Given the description of an element on the screen output the (x, y) to click on. 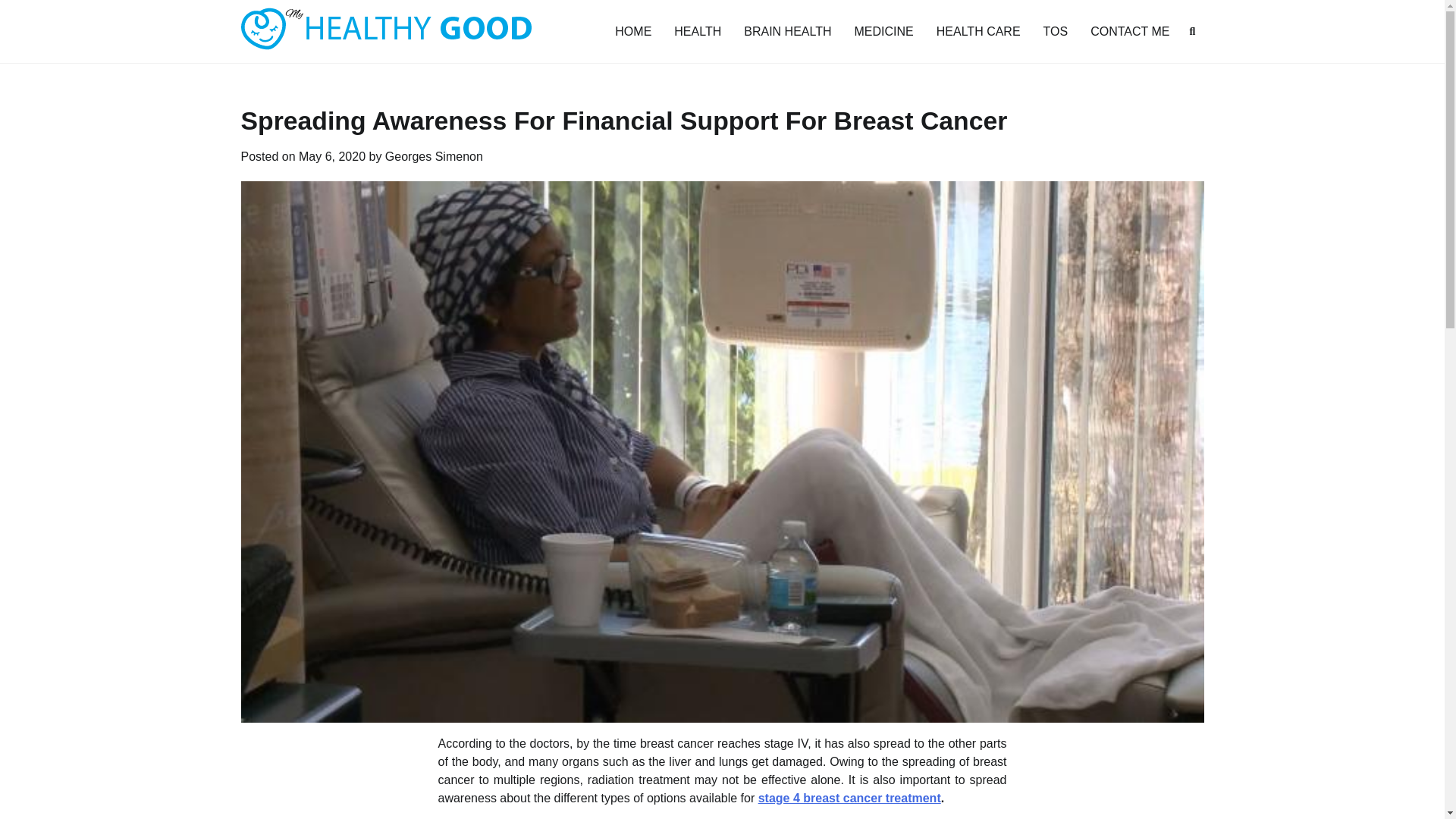
HEALTH (697, 31)
BRAIN HEALTH (787, 31)
HEALTH CARE (978, 31)
Search (1192, 30)
CONTACT ME (1129, 31)
Search (1164, 66)
MEDICINE (883, 31)
TOS (1056, 31)
stage 4 breast cancer treatment (849, 797)
Georges Simenon (434, 155)
